Given the description of an element on the screen output the (x, y) to click on. 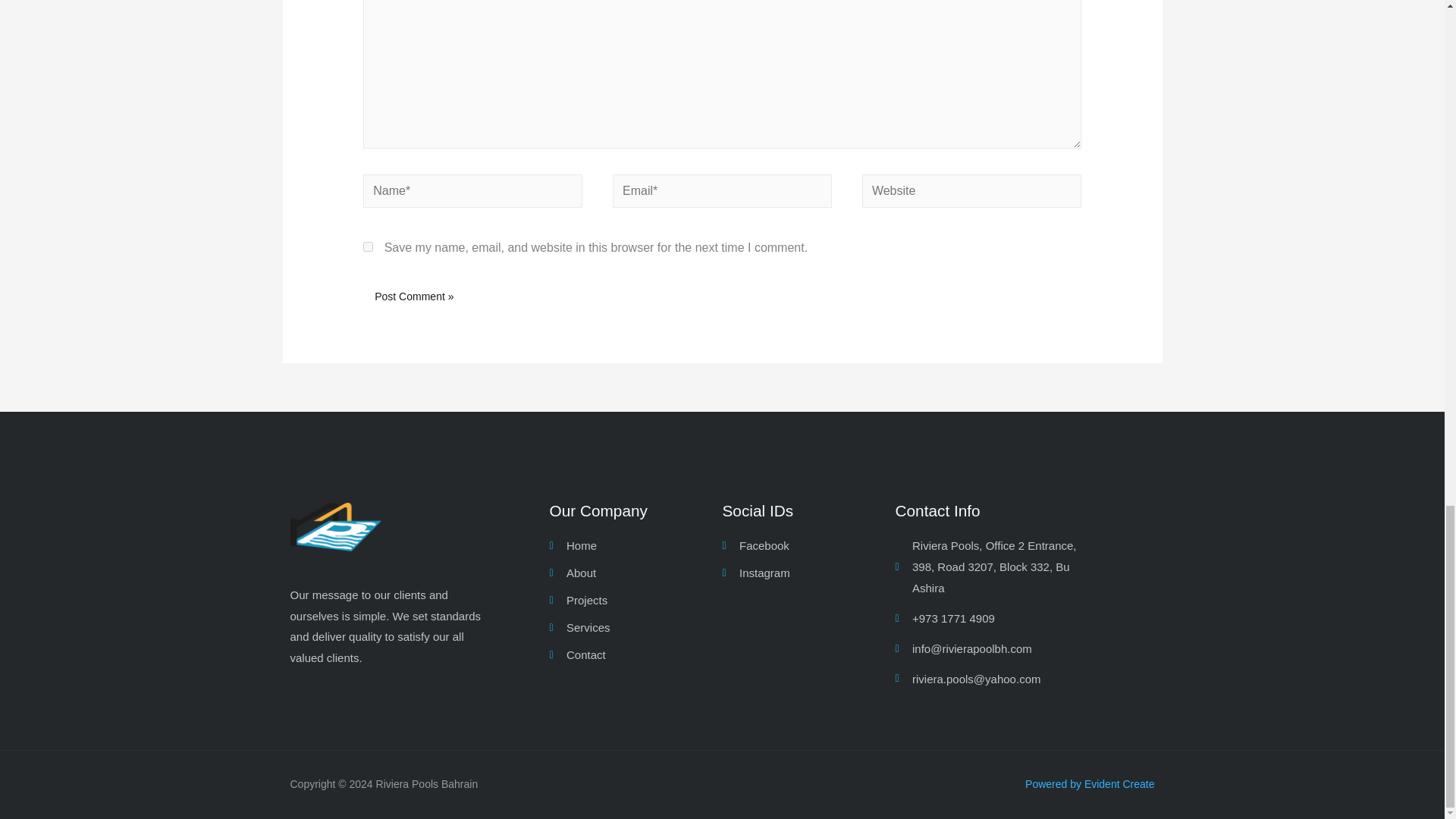
Facebook (808, 545)
Services (635, 627)
Home (635, 545)
Projects (635, 599)
About (635, 572)
Contact (635, 654)
Powered by Evident Create (1089, 784)
yes (367, 246)
